Given the description of an element on the screen output the (x, y) to click on. 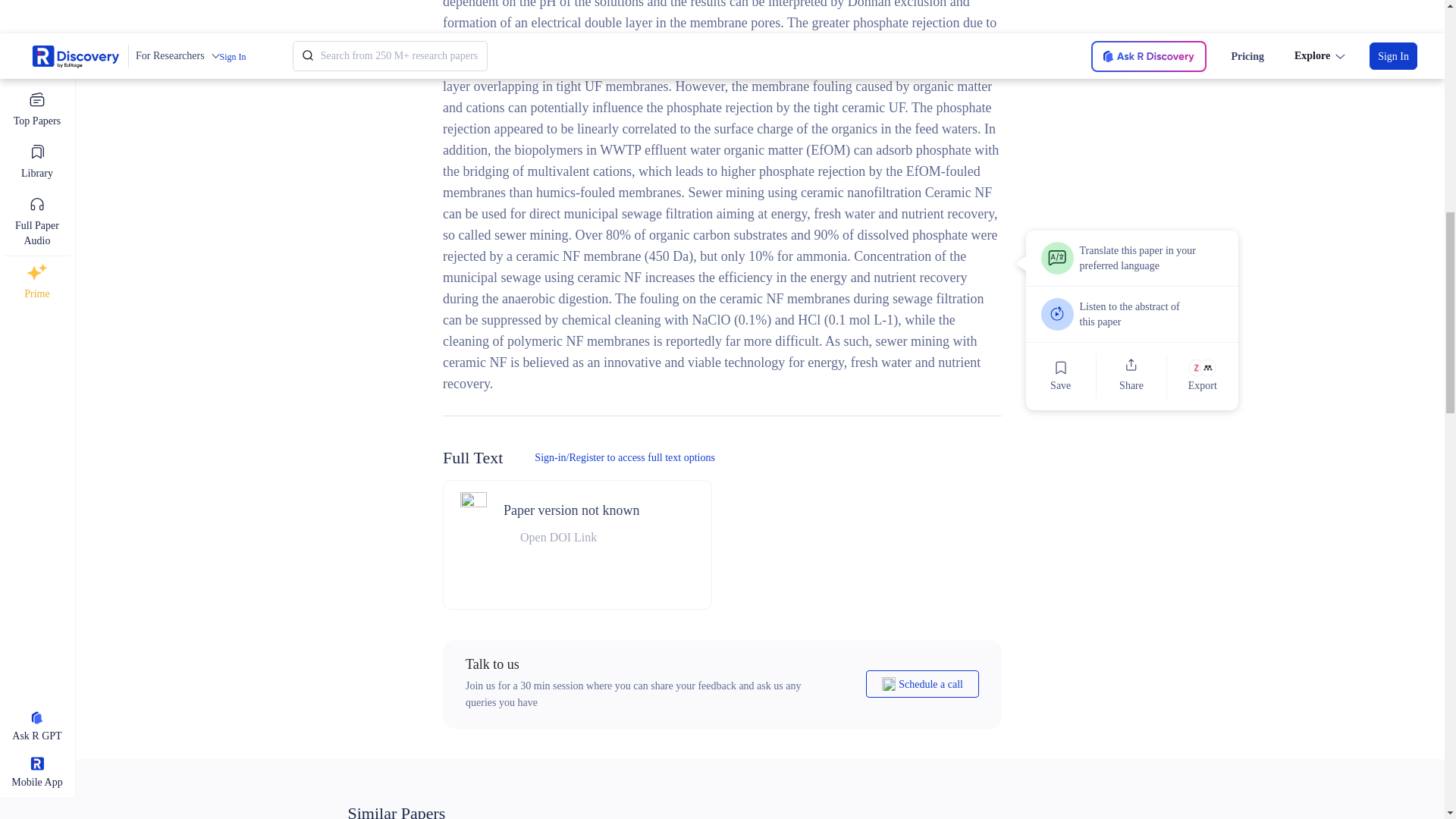
Schedule a call (922, 683)
Get Prime (1080, 43)
Open DOI Link (571, 536)
